Given the description of an element on the screen output the (x, y) to click on. 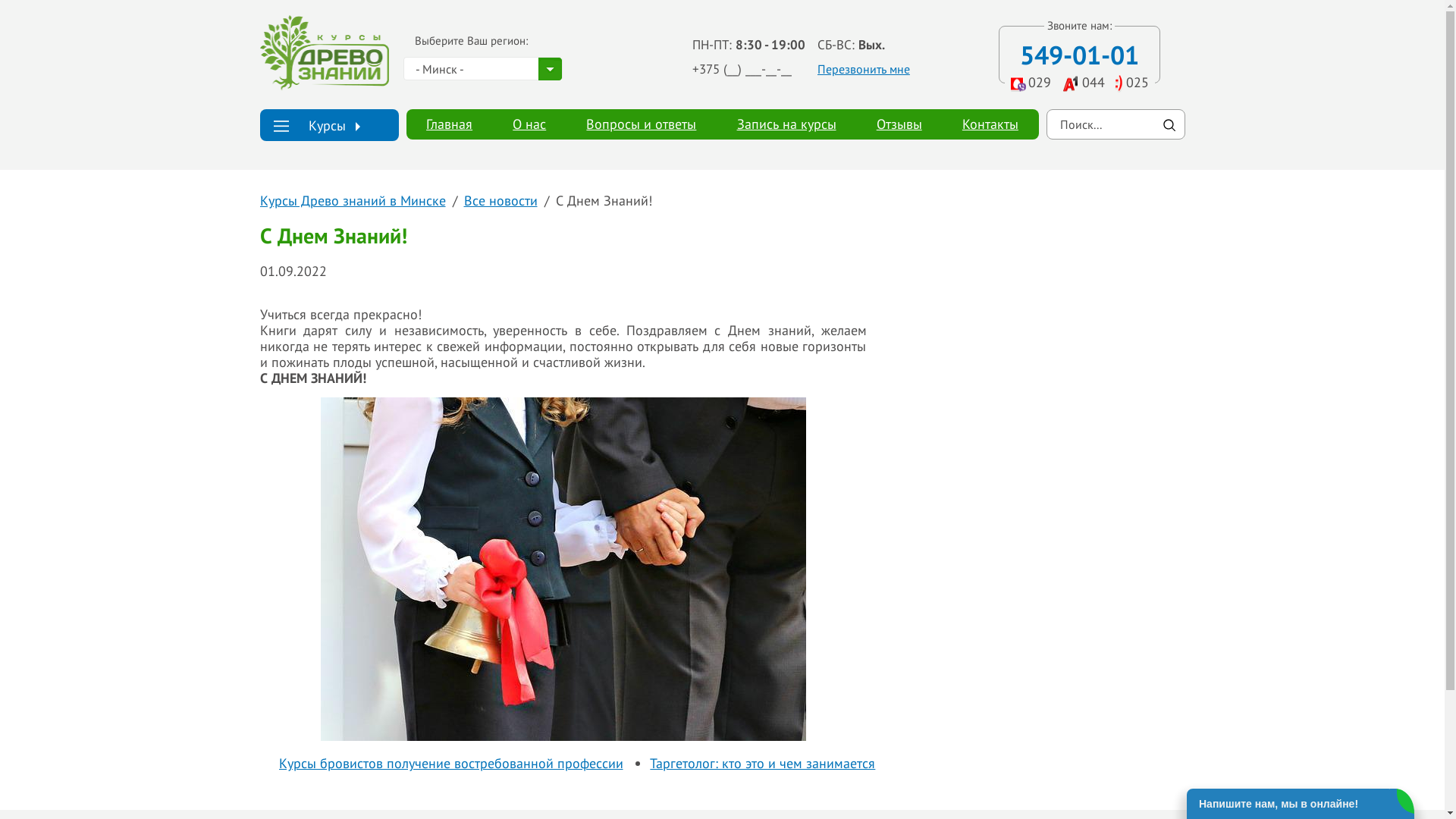
549-01-01 Element type: text (1079, 54)
